Given the description of an element on the screen output the (x, y) to click on. 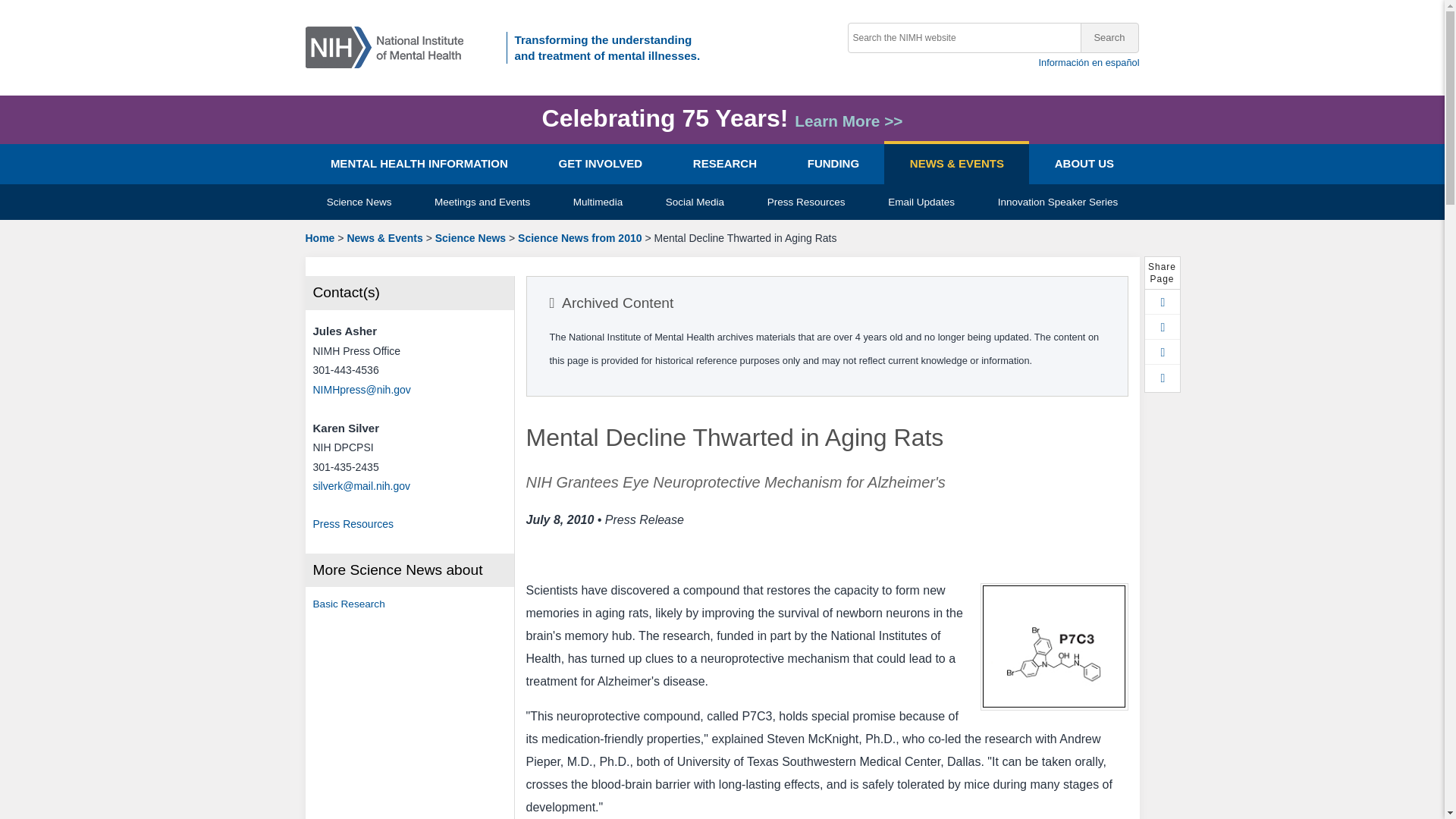
MENTAL HEALTH INFORMATION (418, 164)
Search (1109, 37)
ABOUT US (1083, 164)
GET INVOLVED (599, 164)
Search (1109, 37)
NIMH Home (389, 46)
FUNDING (832, 164)
RESEARCH (723, 164)
National Institute of Mental Health (326, 350)
